Given the description of an element on the screen output the (x, y) to click on. 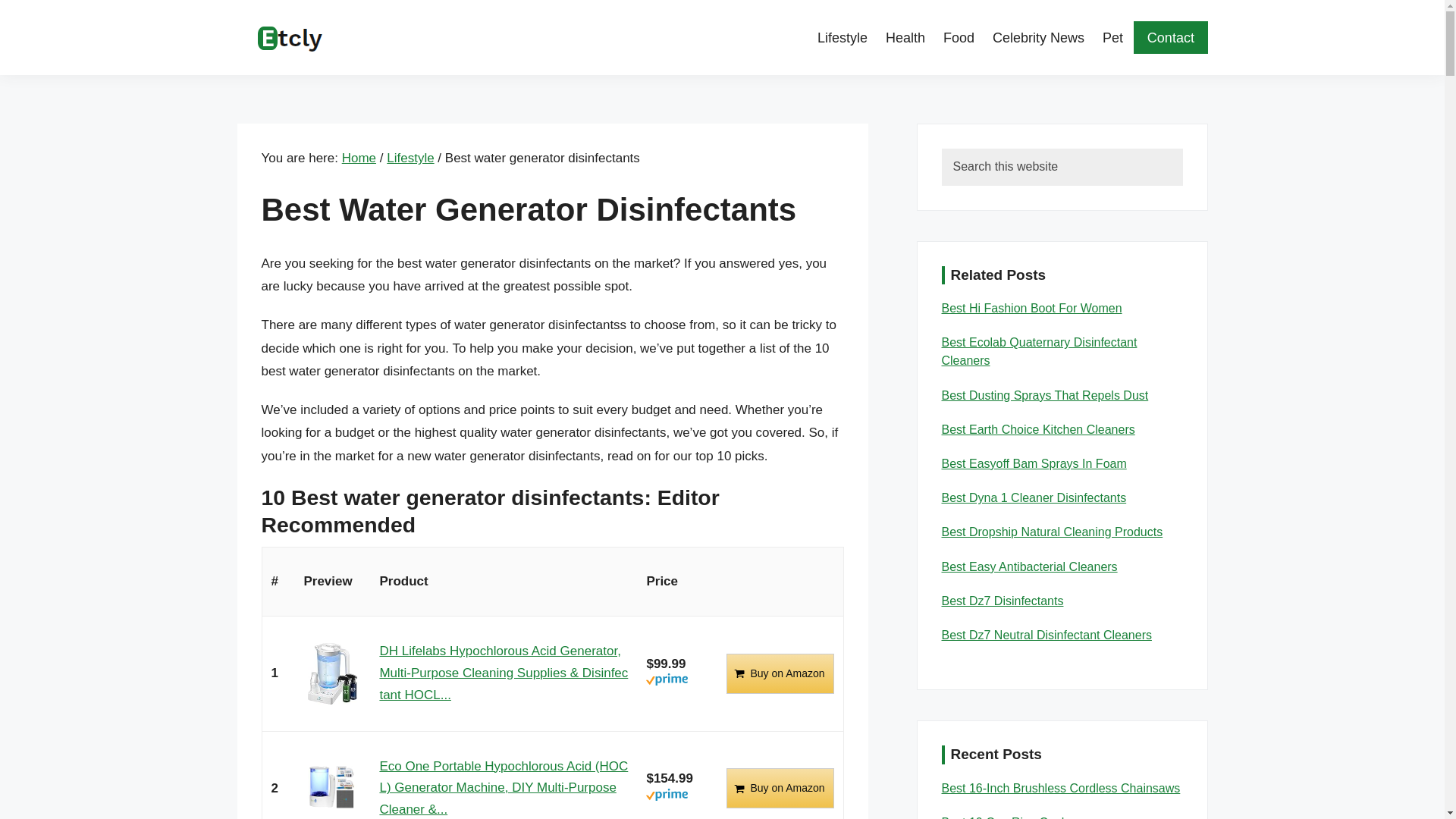
Amazon Prime (666, 682)
Contact (1170, 37)
Lifestyle (410, 157)
Food (958, 37)
Lifestyle (845, 37)
Buy on Amazon (779, 673)
Search (1205, 163)
Celebrity News (1037, 37)
Search (1205, 163)
